Given the description of an element on the screen output the (x, y) to click on. 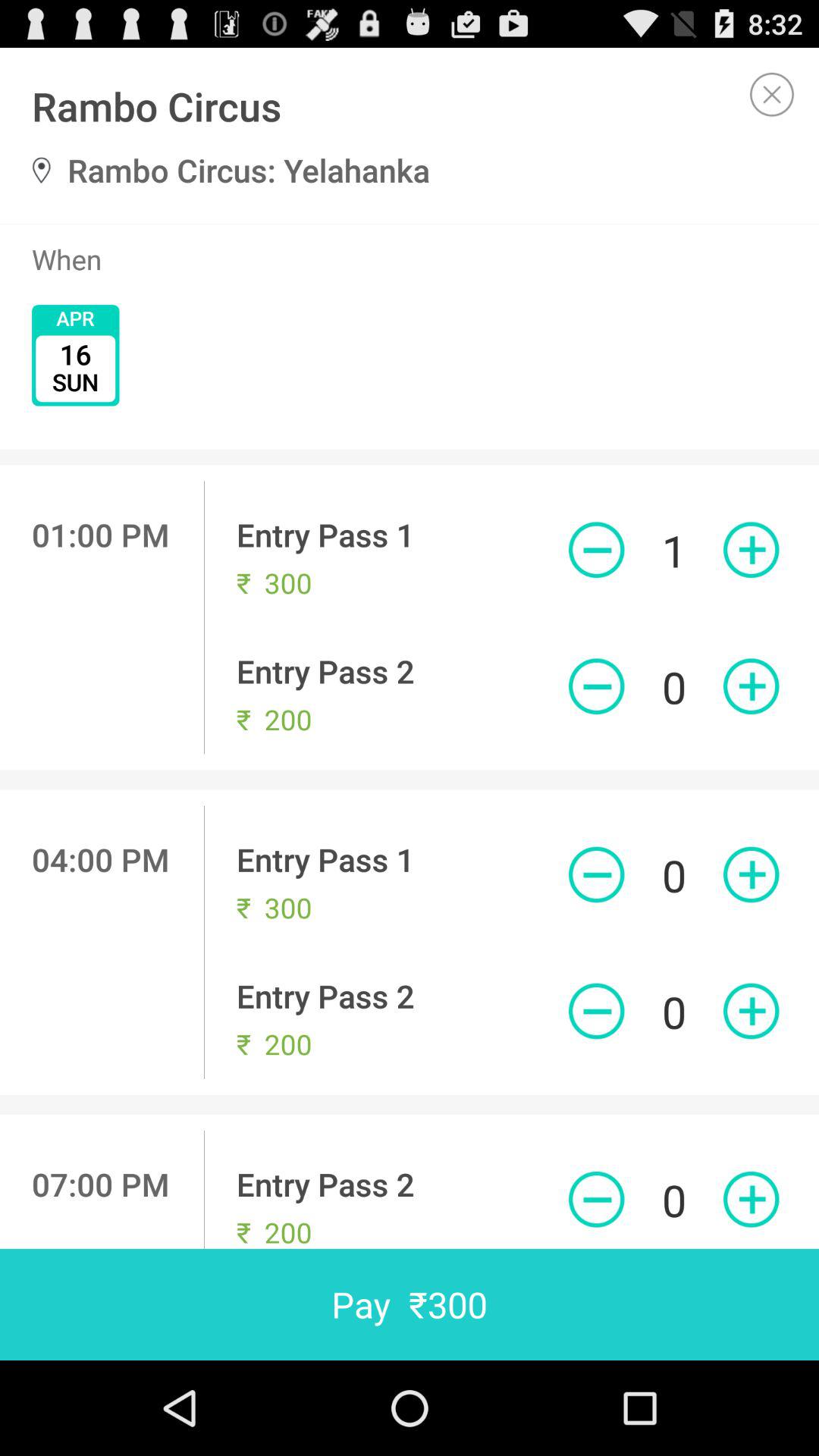
delete button (596, 1199)
